Given the description of an element on the screen output the (x, y) to click on. 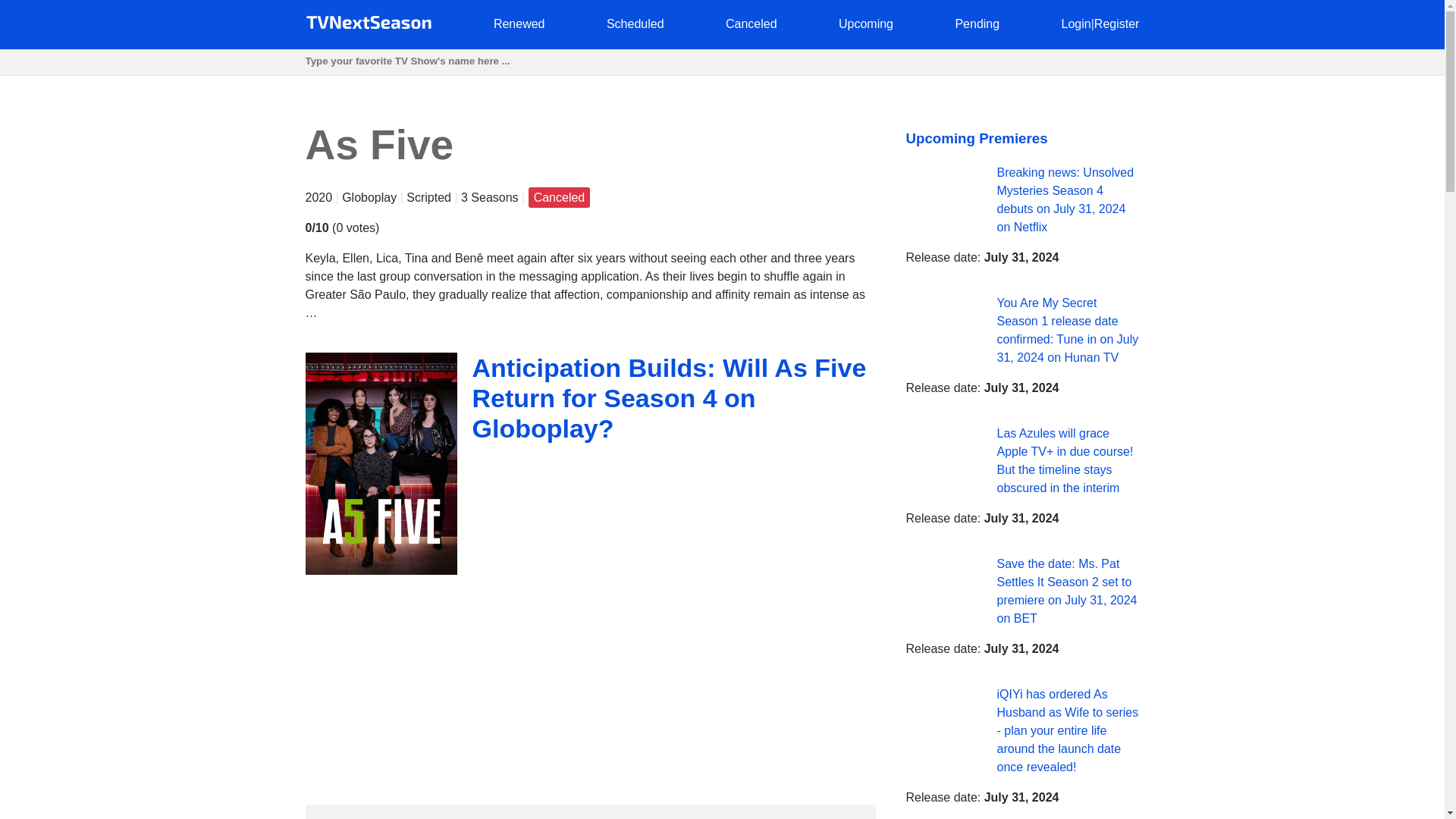
Login (1075, 23)
Renewed (518, 23)
Pending (976, 23)
Upcoming (865, 23)
Scheduled (635, 23)
Register (1117, 23)
Canceled (751, 23)
